Given the description of an element on the screen output the (x, y) to click on. 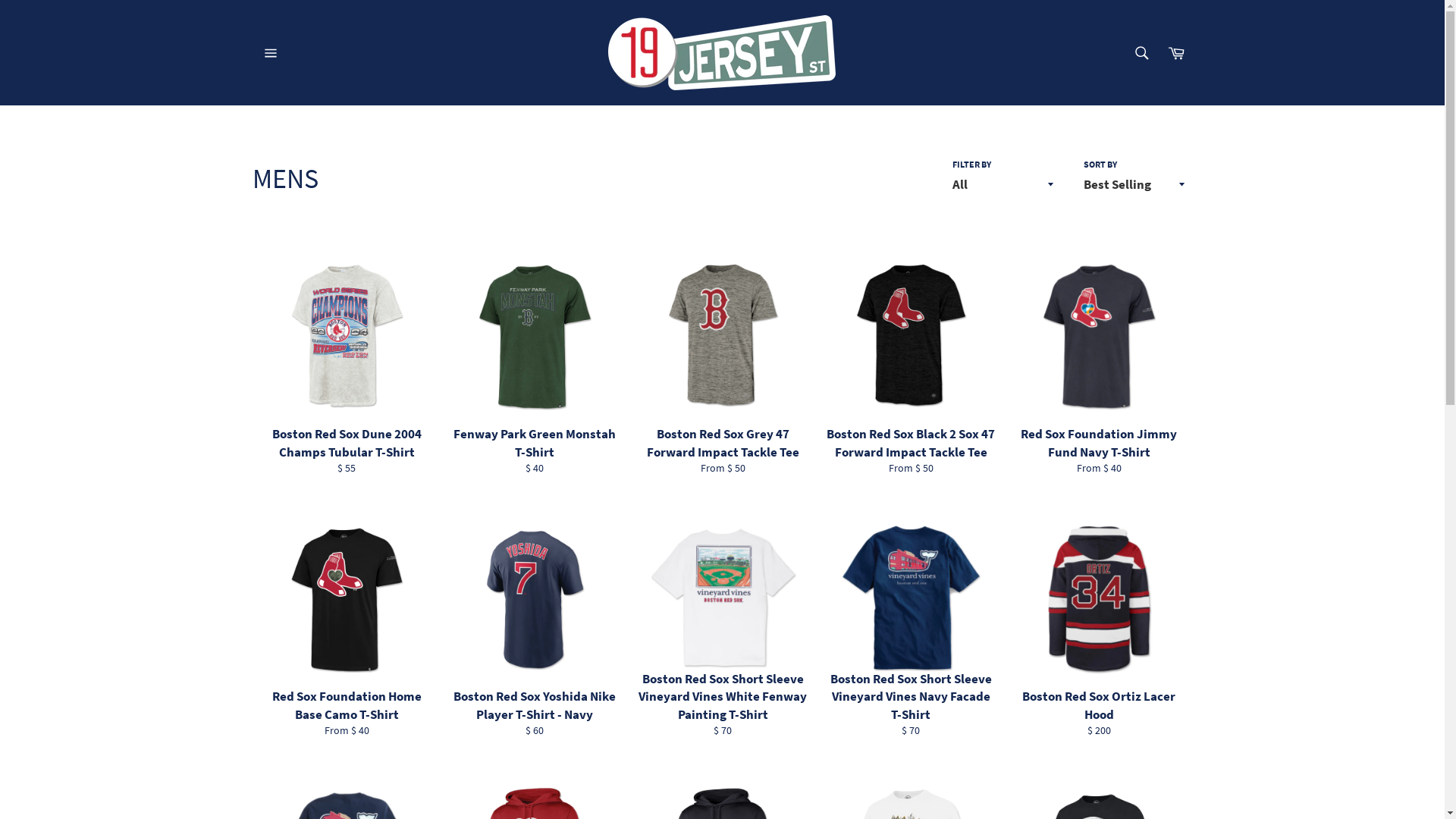
Boston Red Sox Ortiz Lacer Hood
Regular price
$ 200 Element type: text (1098, 622)
Cart Element type: text (1176, 52)
Fenway Park Green Monstah T-Shirt
Regular price
$ 40 Element type: text (533, 360)
Search Element type: text (1140, 52)
Site navigation Element type: text (268, 52)
Red Sox Foundation Jimmy Fund Navy T-Shirt
From $ 40 Element type: text (1098, 360)
Red Sox Foundation Home Base Camo T-Shirt
From $ 40 Element type: text (345, 622)
Boston Red Sox Grey 47 Forward Impact Tackle Tee
From $ 50 Element type: text (721, 360)
